Given the description of an element on the screen output the (x, y) to click on. 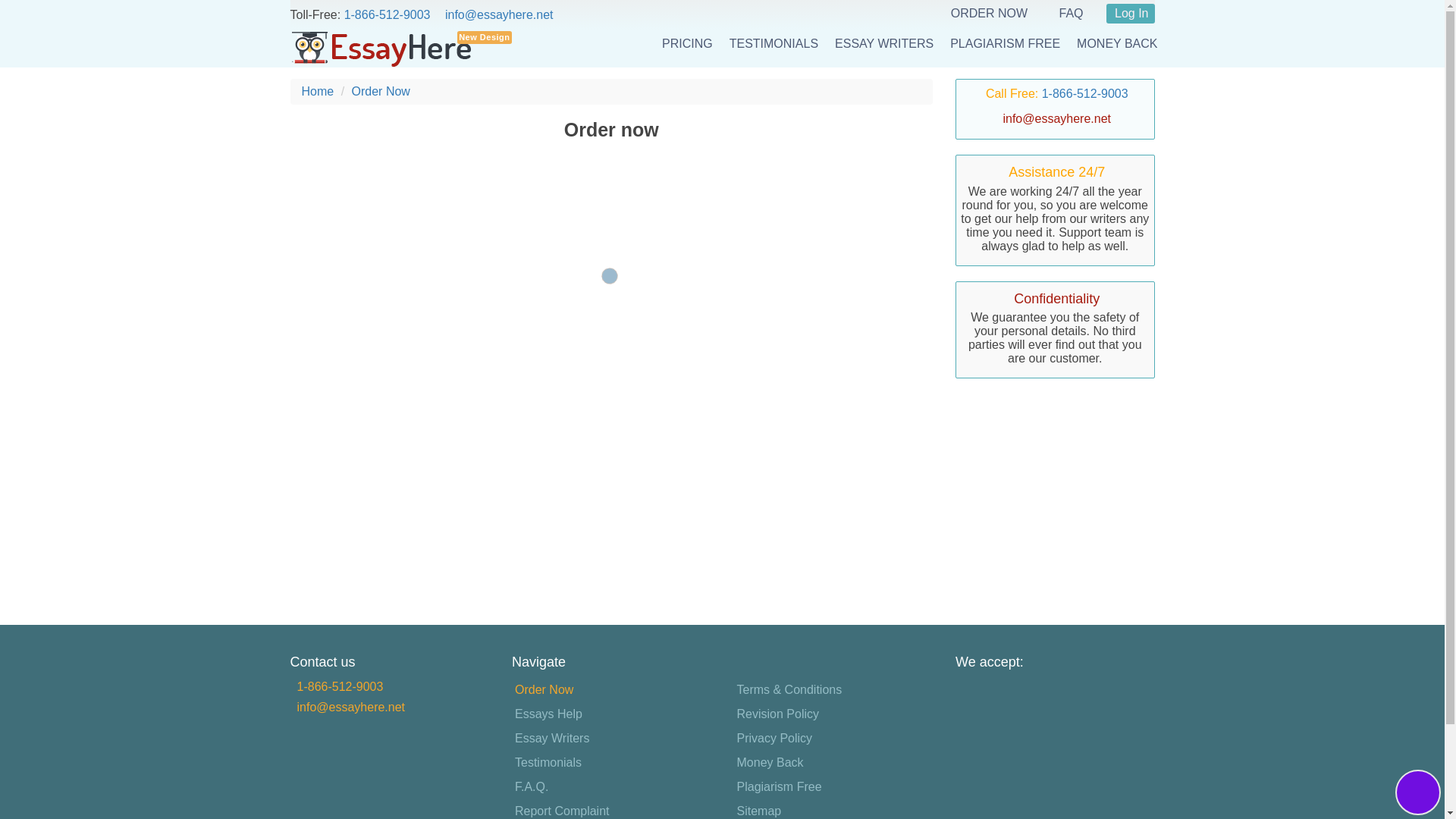
Privacy Policy (774, 738)
New Design (380, 48)
Report Complaint (562, 809)
Order Now (544, 690)
1-866-512-9003 (386, 14)
Essays Help (548, 713)
1-866-512-9003 (340, 686)
Money Back (769, 762)
PRICING (686, 43)
Sitemap (758, 809)
